Given the description of an element on the screen output the (x, y) to click on. 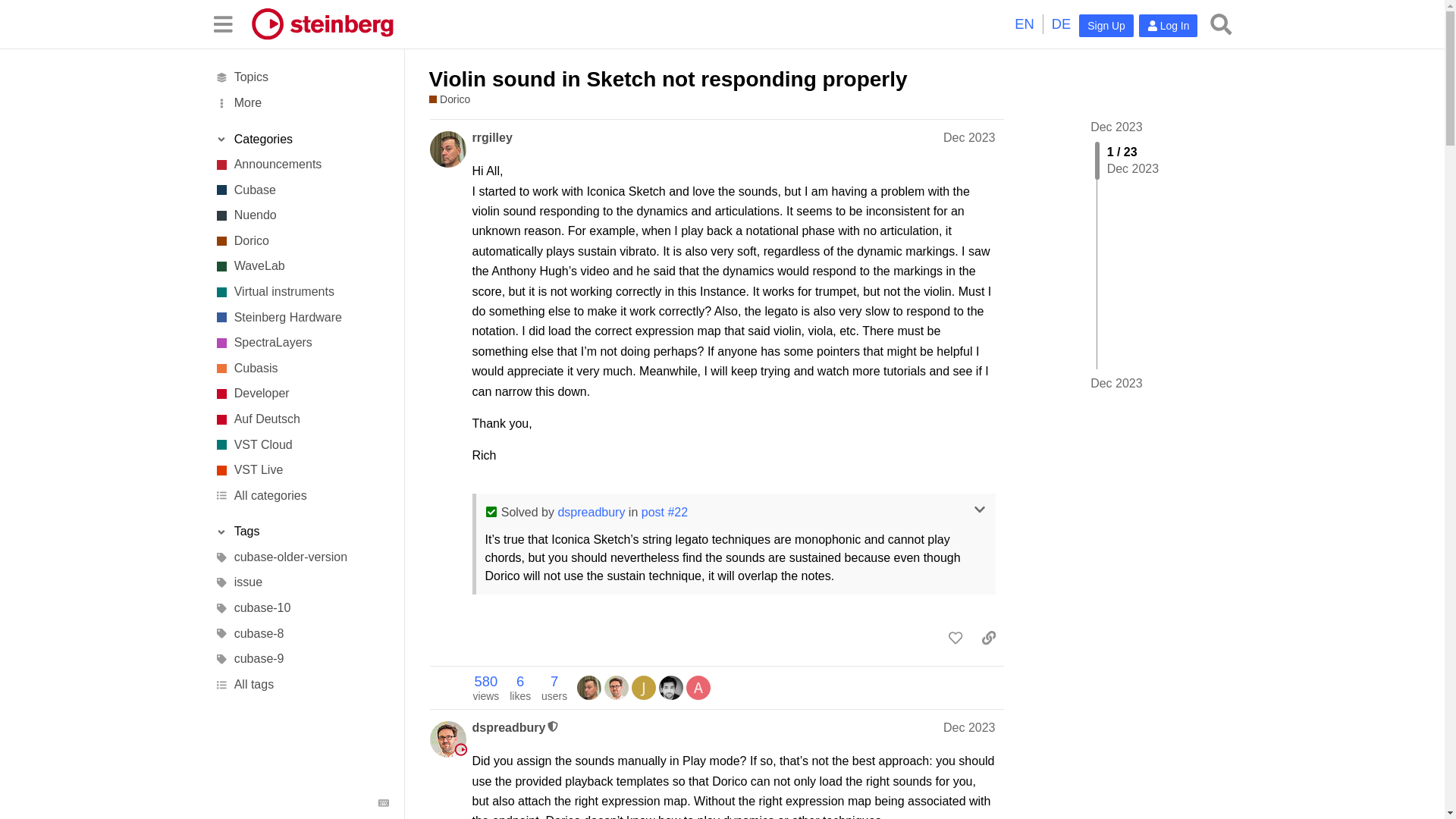
Dorico (301, 240)
Professional music notation and composition software. (301, 240)
Cubase (301, 190)
Steinberg Hardware (301, 317)
issue (301, 583)
VST Cloud (301, 444)
Dorico (449, 99)
Announcements (301, 164)
Categories (301, 139)
The number one mastering and audio editing software. (301, 266)
cubase-older-version (301, 557)
Cubasis (301, 368)
German (1061, 23)
Advanced Live Performance System. (301, 470)
Premium media production system. (301, 216)
